Given the description of an element on the screen output the (x, y) to click on. 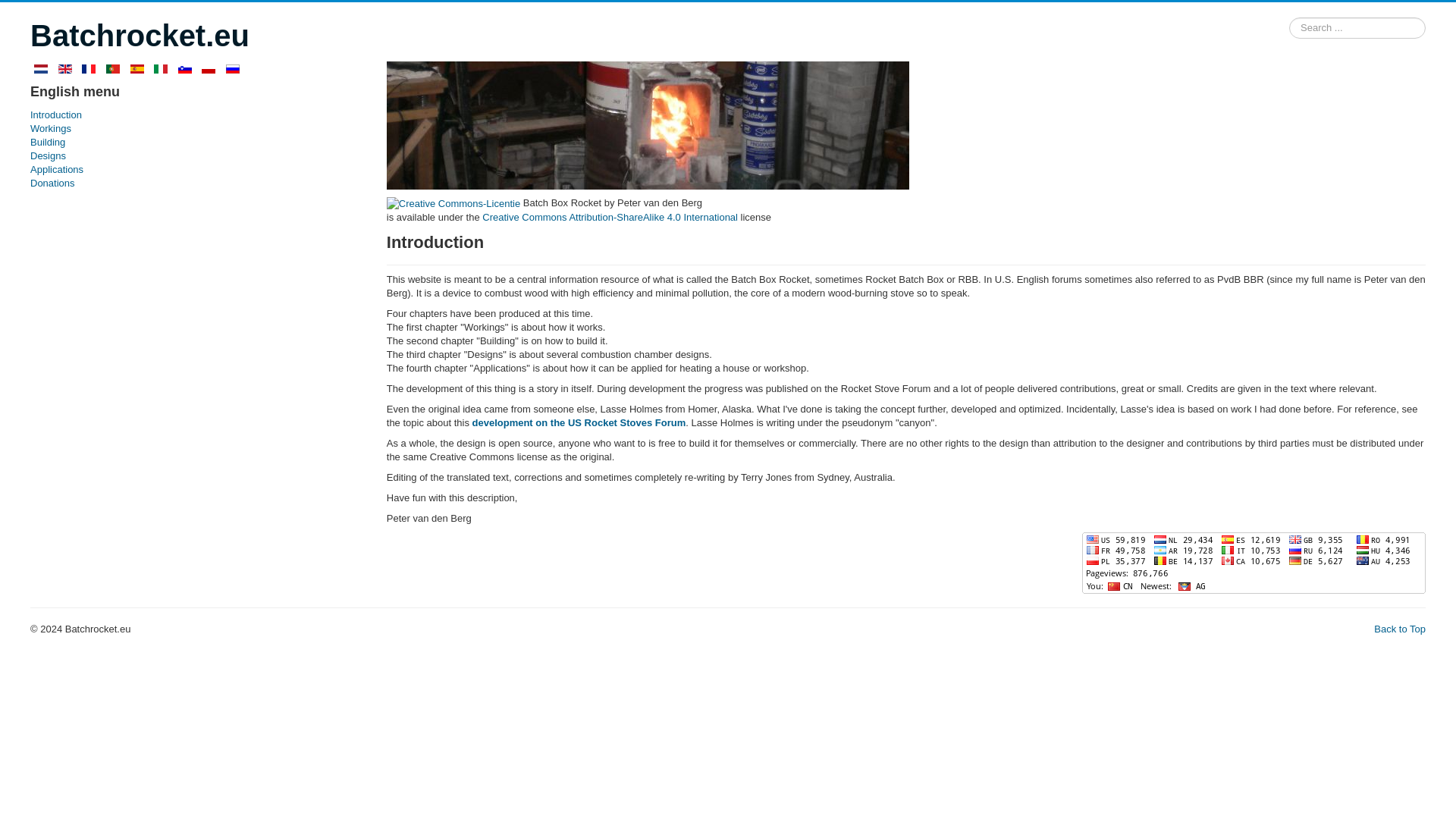
Applications (193, 169)
Introduction (193, 115)
development on the US Rocket Stoves Forum (578, 422)
Donations (193, 183)
Nederlands (40, 68)
Italiano (160, 68)
Creative Commons Attribution-ShareAlike 4.0 International (609, 216)
Workings (193, 128)
Polski (208, 68)
Russian (232, 68)
